Given the description of an element on the screen output the (x, y) to click on. 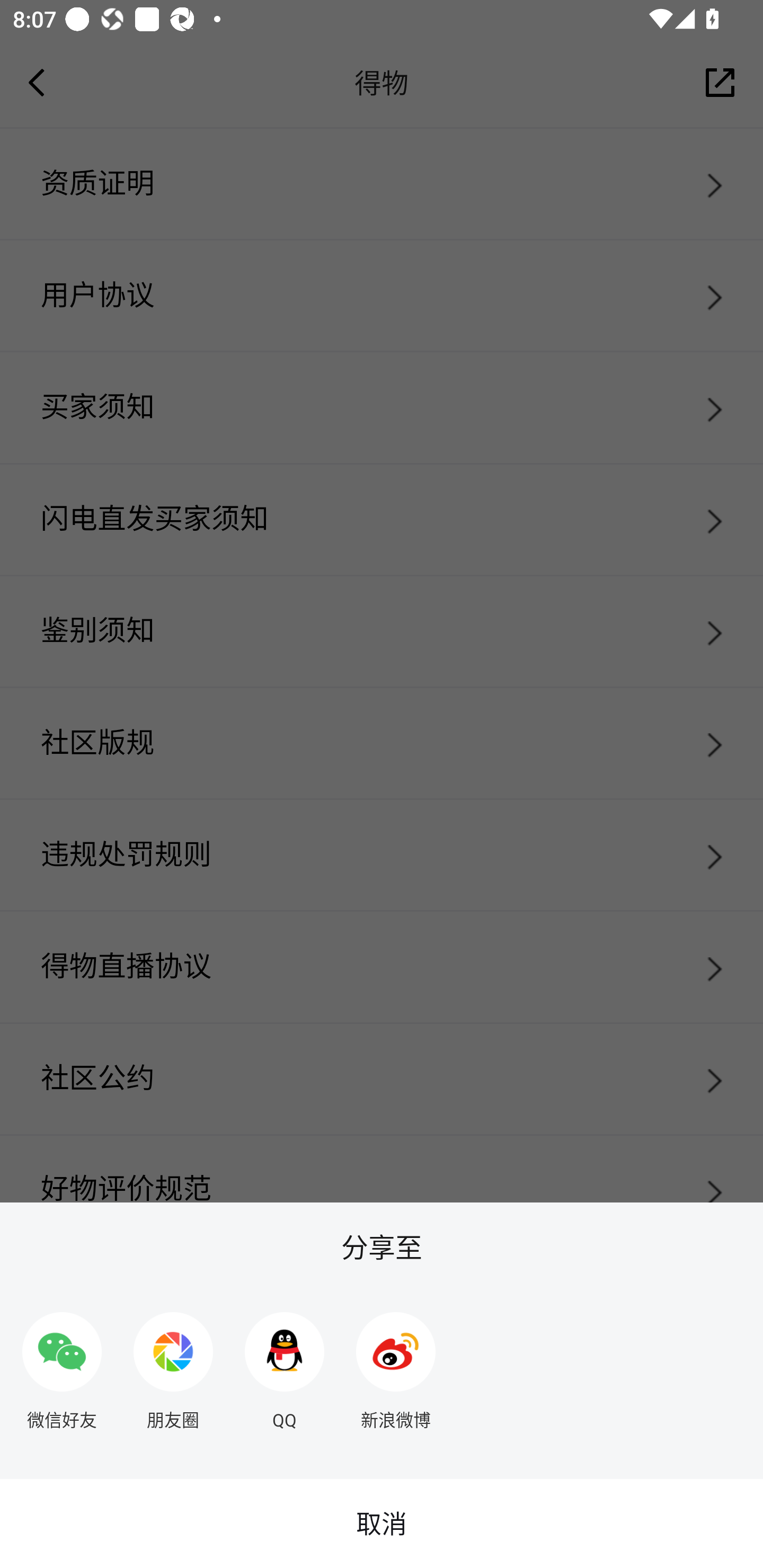
微信好友 (61, 1363)
朋友圈 (172, 1363)
QQ (284, 1363)
新浪微博 (395, 1363)
取消 (381, 1523)
